Given the description of an element on the screen output the (x, y) to click on. 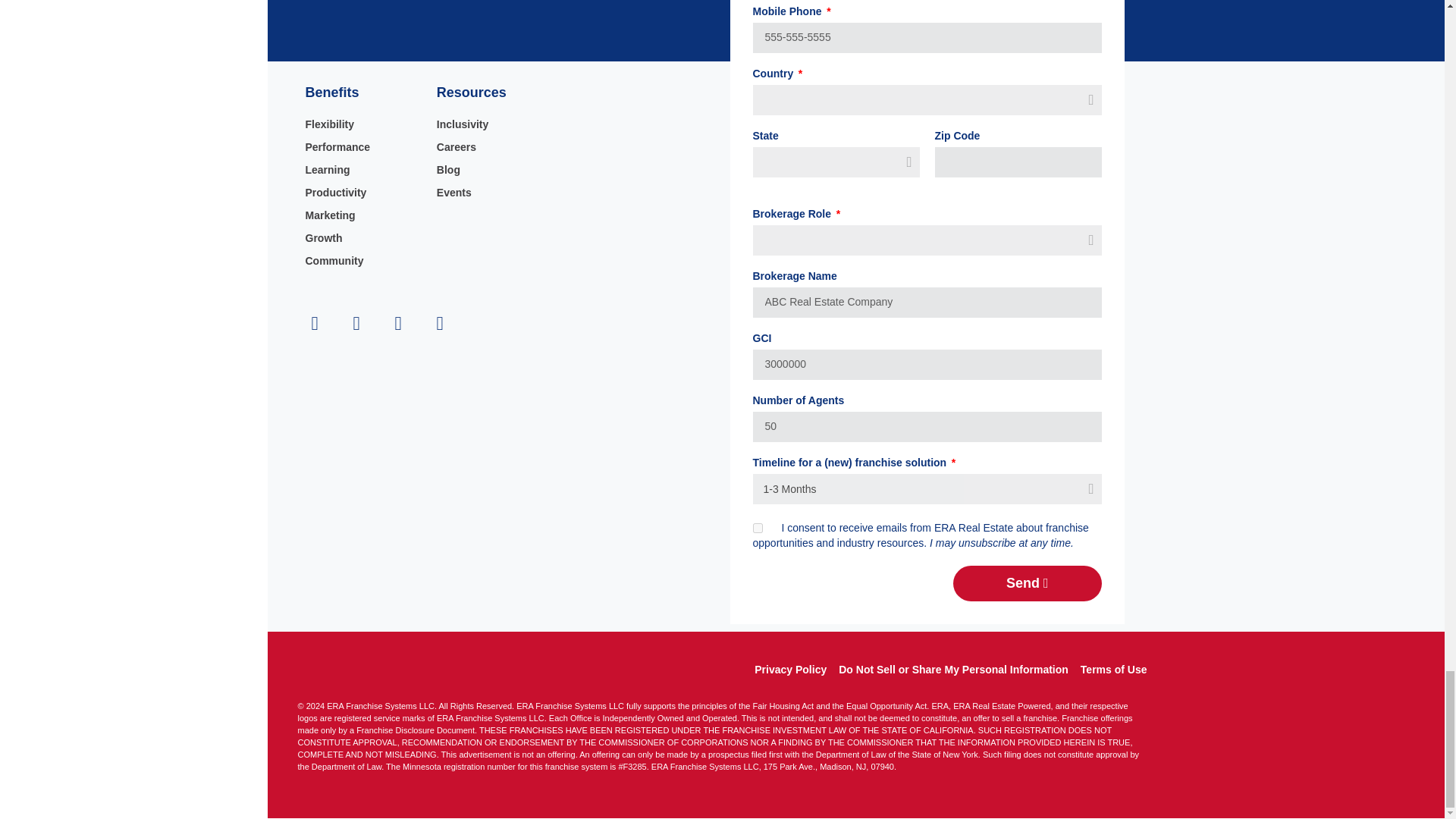
Productivity (362, 192)
Growth (362, 237)
Flexibility (362, 124)
Events (494, 192)
on (756, 528)
Community (362, 260)
Blog (494, 169)
Privacy Policy (790, 669)
Marketing (362, 215)
Performance (362, 146)
